Given the description of an element on the screen output the (x, y) to click on. 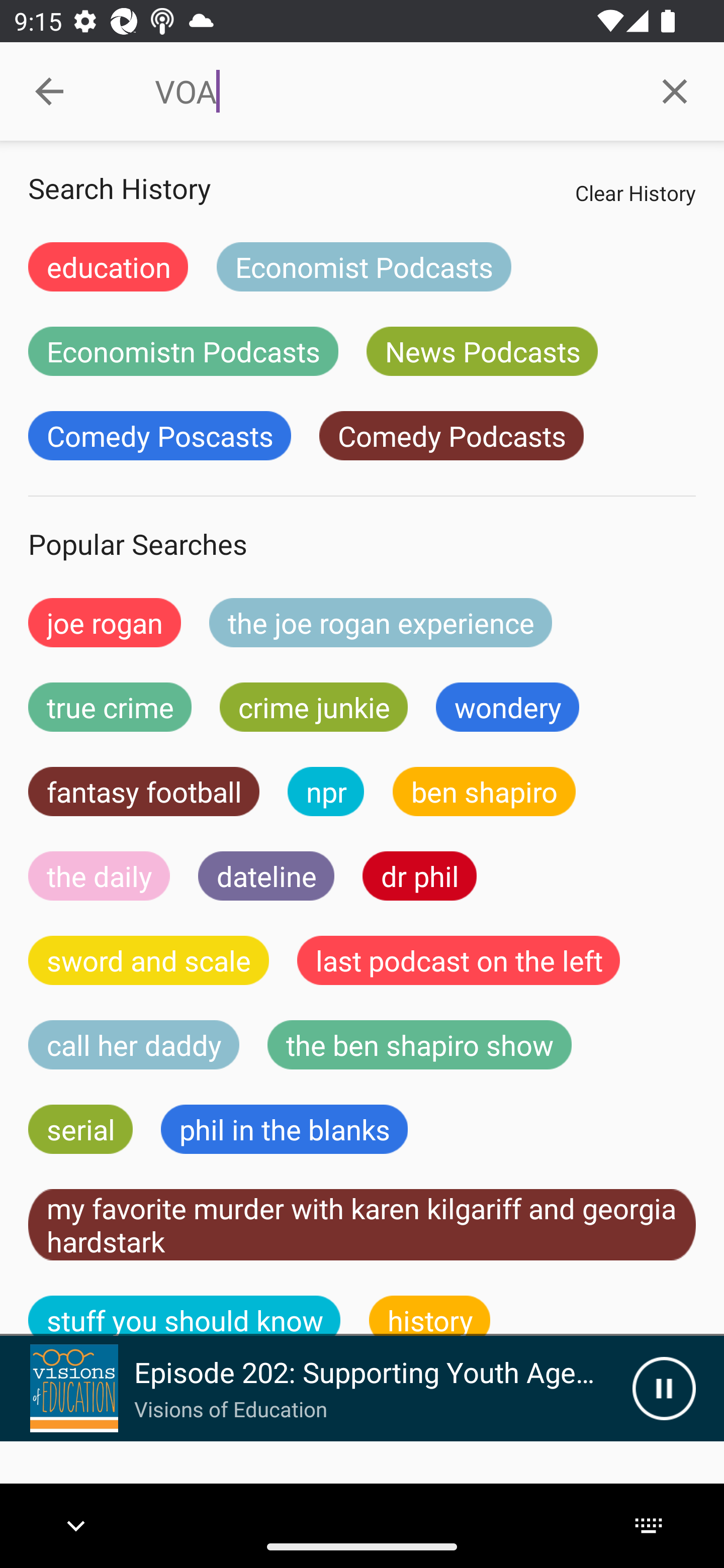
Collapse (49, 91)
Clear query (674, 90)
VOA (389, 91)
Clear History (634, 192)
education (108, 266)
Economist Podcasts (363, 266)
Economistn Podcasts (183, 351)
News Podcasts (482, 351)
Comedy Poscasts (159, 435)
Comedy Podcasts (451, 435)
joe rogan (104, 622)
the joe rogan experience (380, 622)
true crime (109, 707)
crime junkie (313, 707)
wondery (507, 707)
fantasy football (143, 791)
npr (325, 791)
ben shapiro (483, 791)
the daily (99, 875)
dateline (266, 875)
dr phil (419, 875)
sword and scale (148, 960)
last podcast on the left (458, 960)
call her daddy (133, 1044)
the ben shapiro show (419, 1044)
serial (80, 1128)
phil in the blanks (283, 1128)
stuff you should know (184, 1315)
history (429, 1315)
Pause (663, 1388)
